Given the description of an element on the screen output the (x, y) to click on. 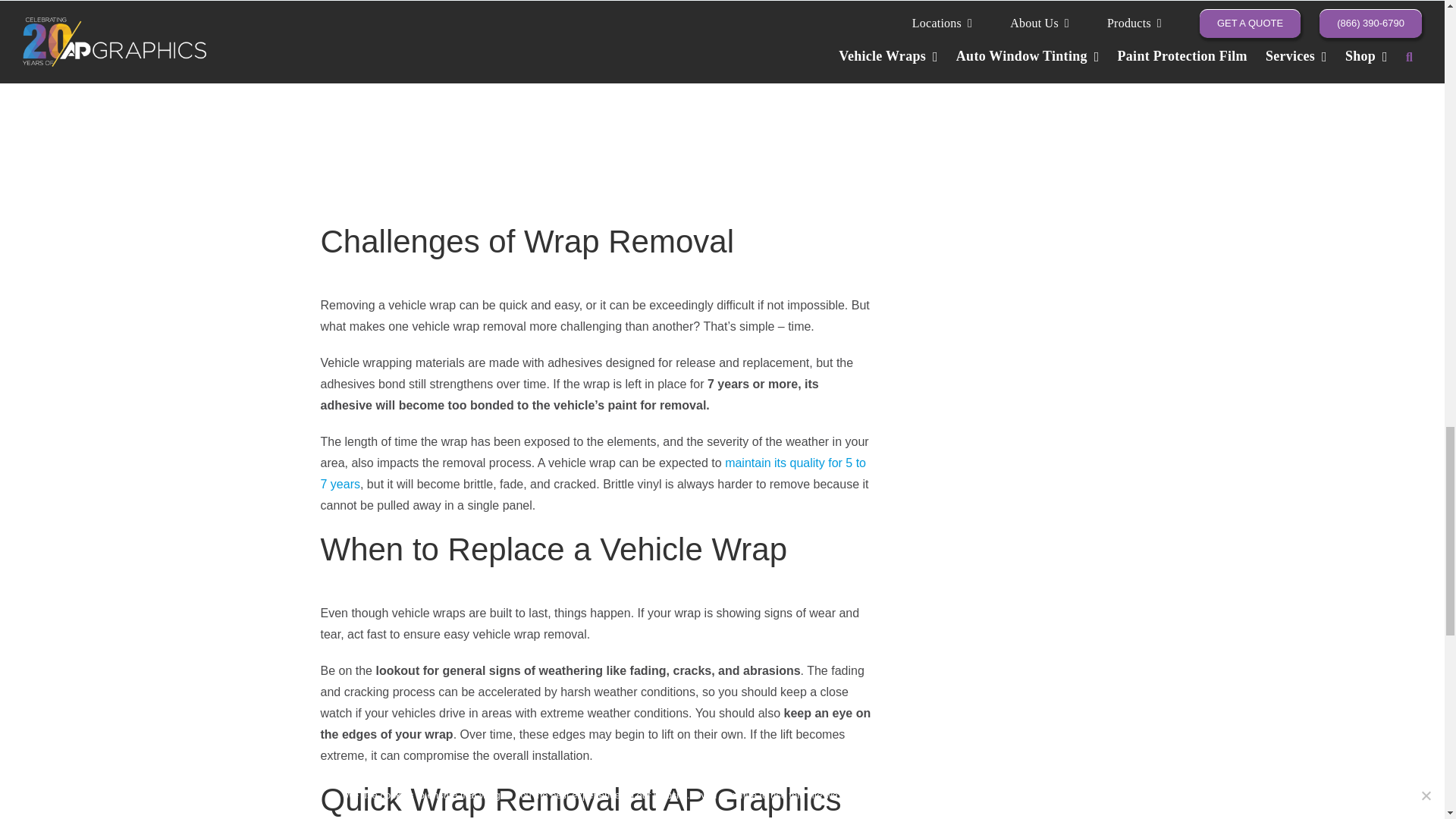
vehicle-wrap-removal-how-it-works-ap-corp-ap-graphics (595, 99)
